Given the description of an element on the screen output the (x, y) to click on. 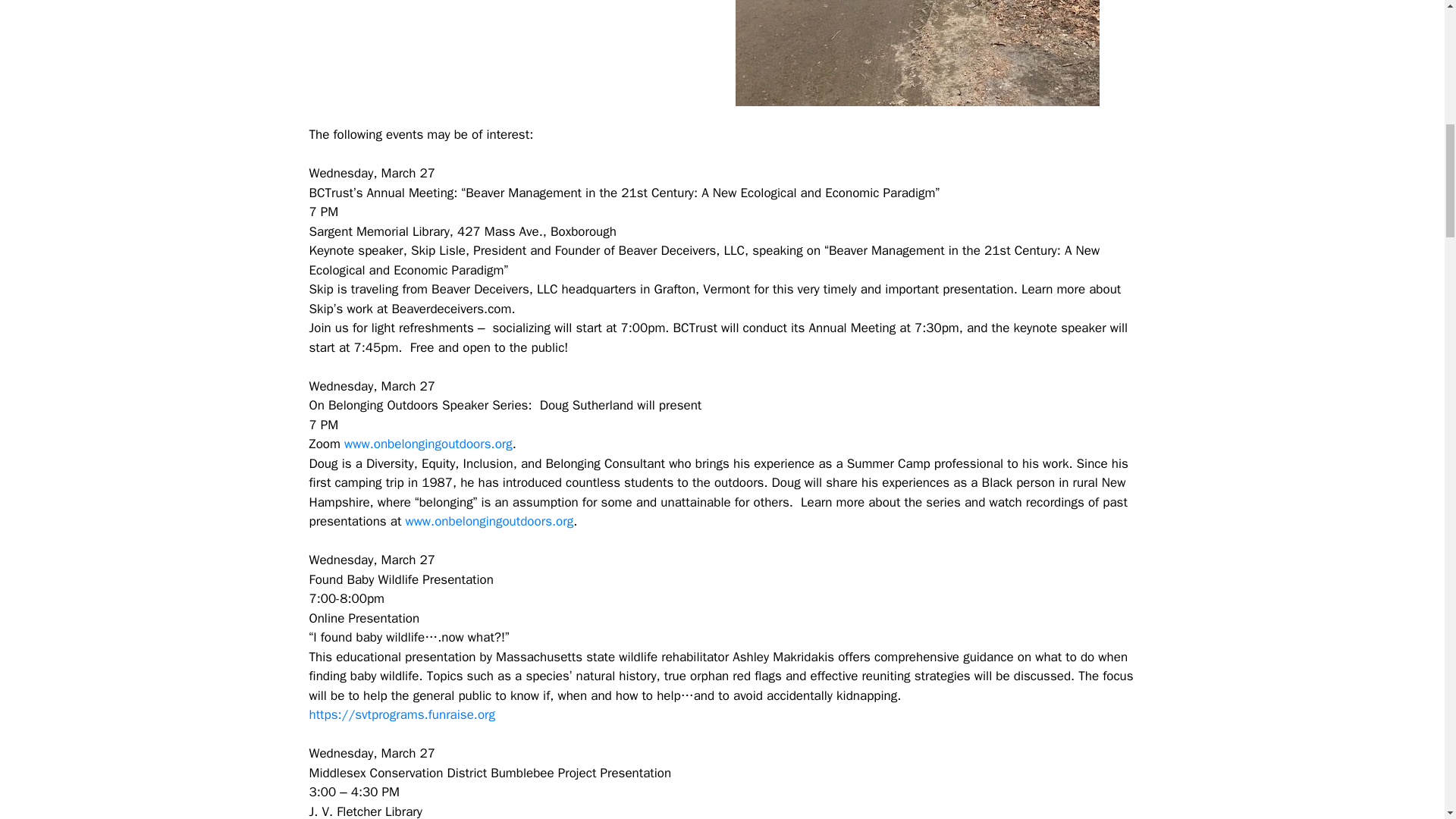
Scroll back to top (1406, 720)
www.onbelongingoutdoors.org (427, 443)
www.onbelongingoutdoors.org (488, 521)
